Given the description of an element on the screen output the (x, y) to click on. 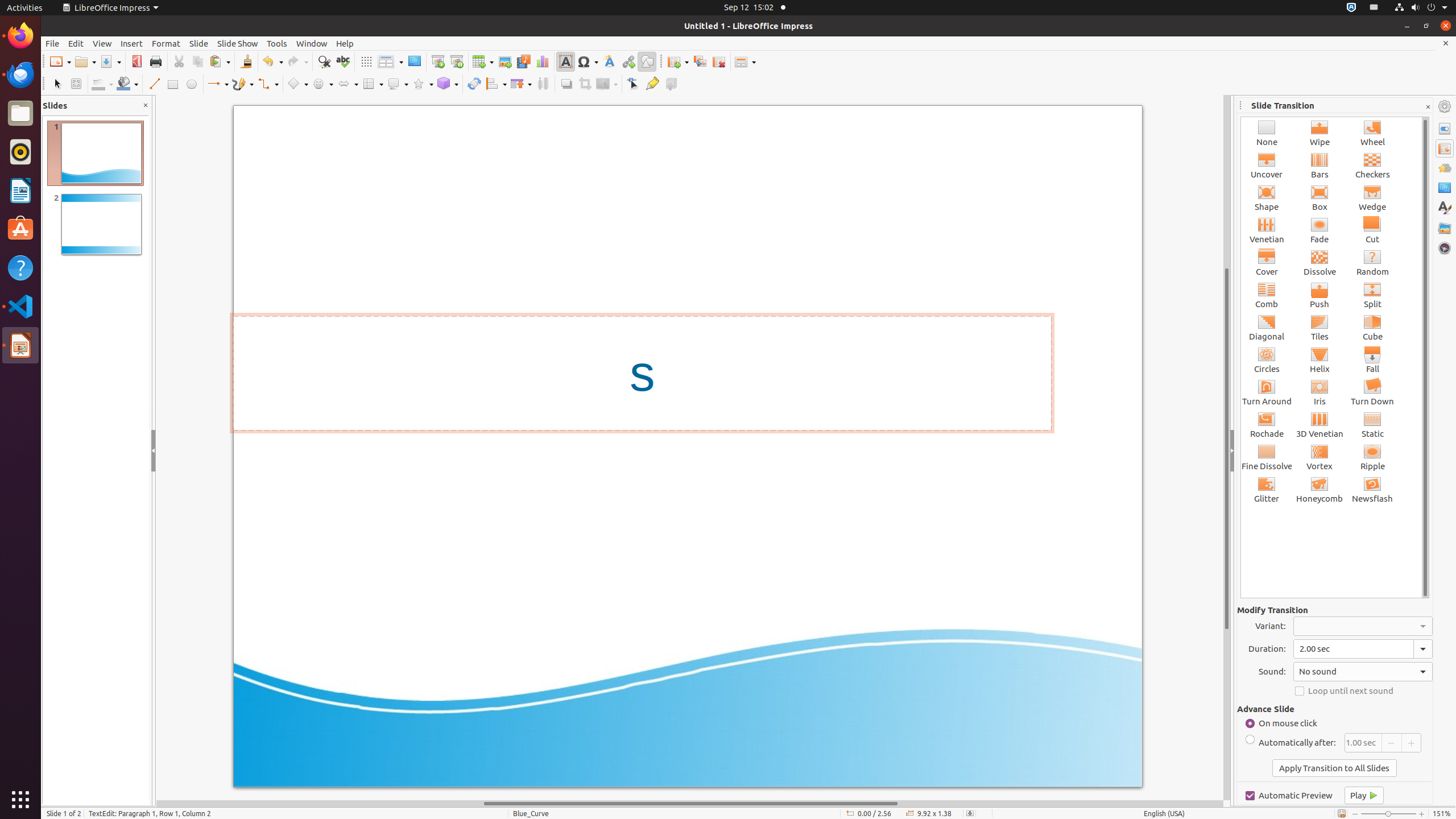
Wipe Element type: list-item (1319, 132)
Master Slides Element type: radio-button (1444, 188)
Open Element type: push-button (84, 61)
Cover Element type: list-item (1266, 262)
Paste Element type: push-button (219, 61)
